Given the description of an element on the screen output the (x, y) to click on. 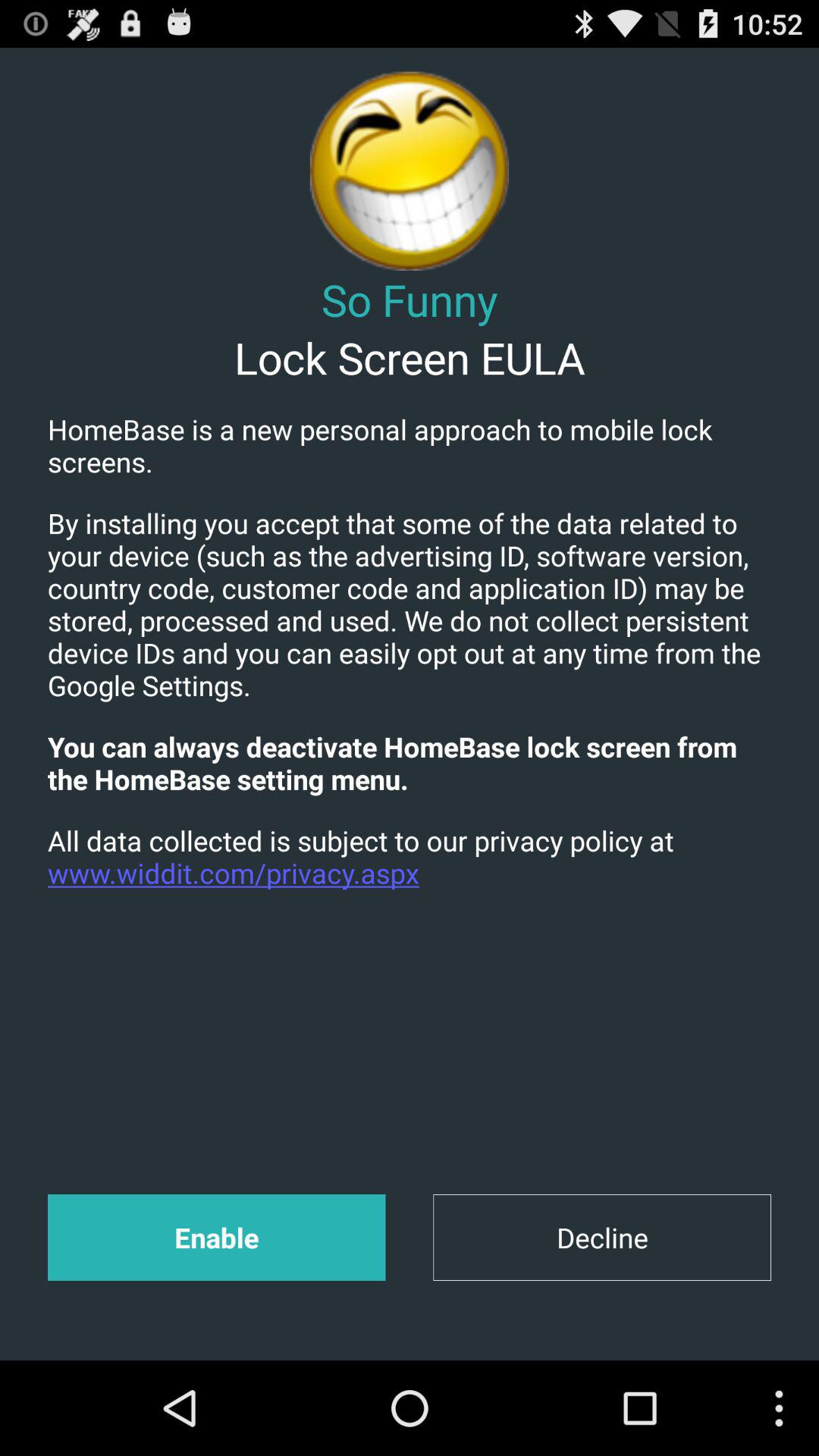
swipe until homebase is a (409, 445)
